Given the description of an element on the screen output the (x, y) to click on. 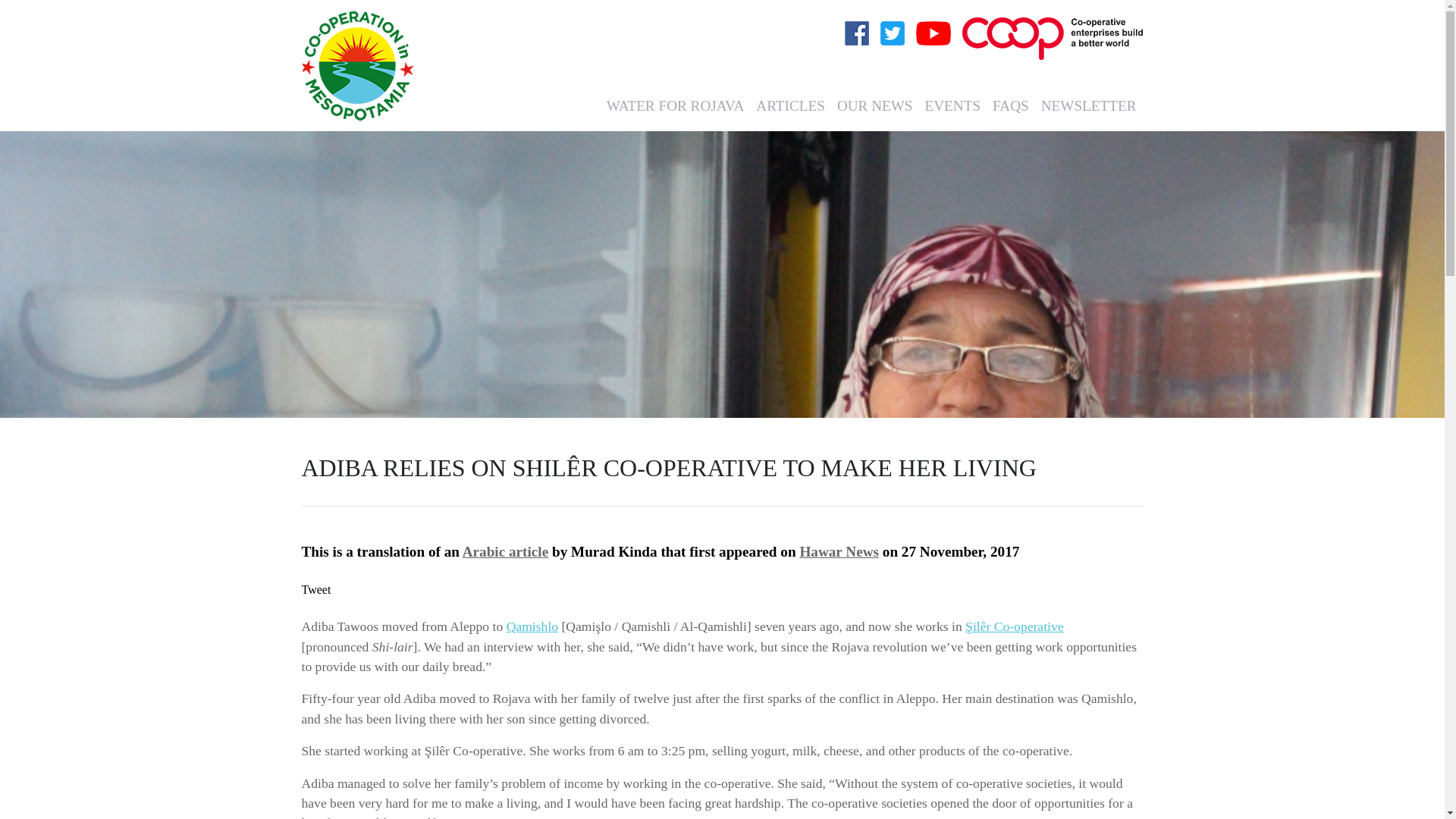
Events (952, 106)
FAQS (1011, 106)
Arabic article (505, 551)
Newsletter (1088, 106)
NEWSLETTER (1088, 106)
Articles (790, 106)
ARTICLES (790, 106)
Qami (520, 626)
OUR NEWS (874, 106)
FAQs (1011, 106)
Our News (874, 106)
Hawar News (839, 551)
Water for Rojava (675, 106)
EVENTS (952, 106)
WATER FOR ROJAVA (675, 106)
